Given the description of an element on the screen output the (x, y) to click on. 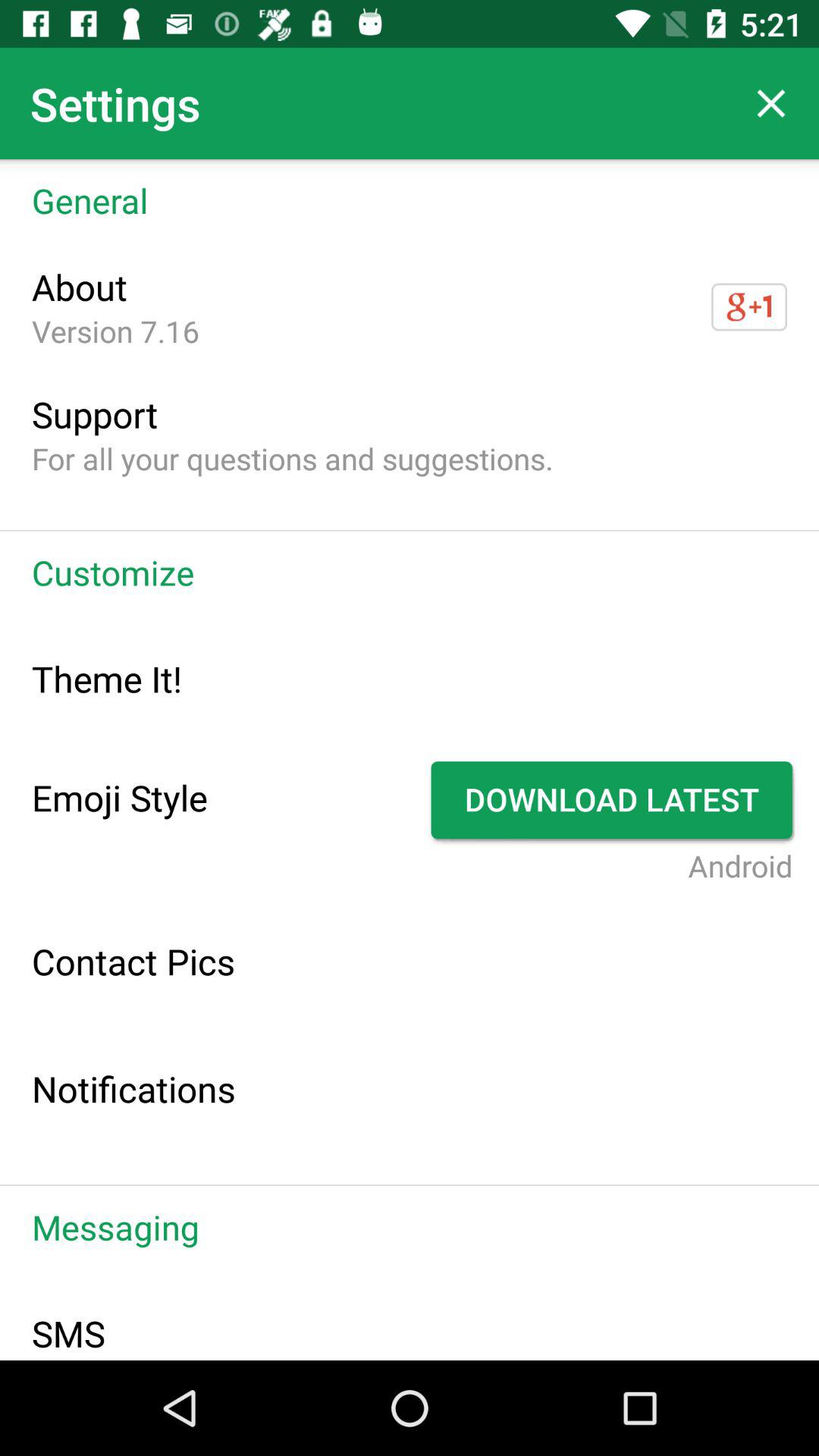
launch item above android (613, 799)
